Given the description of an element on the screen output the (x, y) to click on. 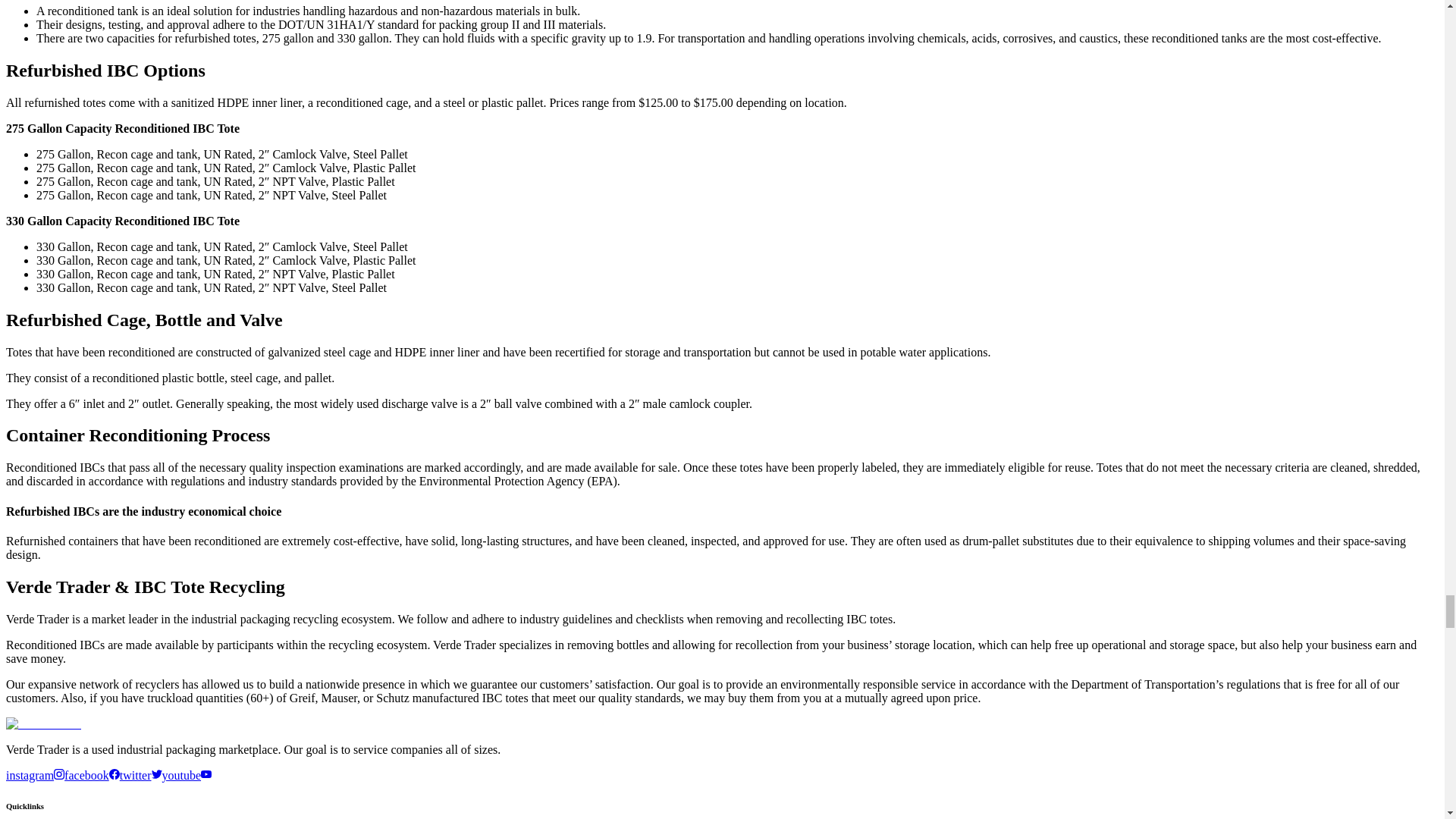
instagram (34, 775)
twitter (140, 775)
facebook (91, 775)
youtube (186, 775)
